Given the description of an element on the screen output the (x, y) to click on. 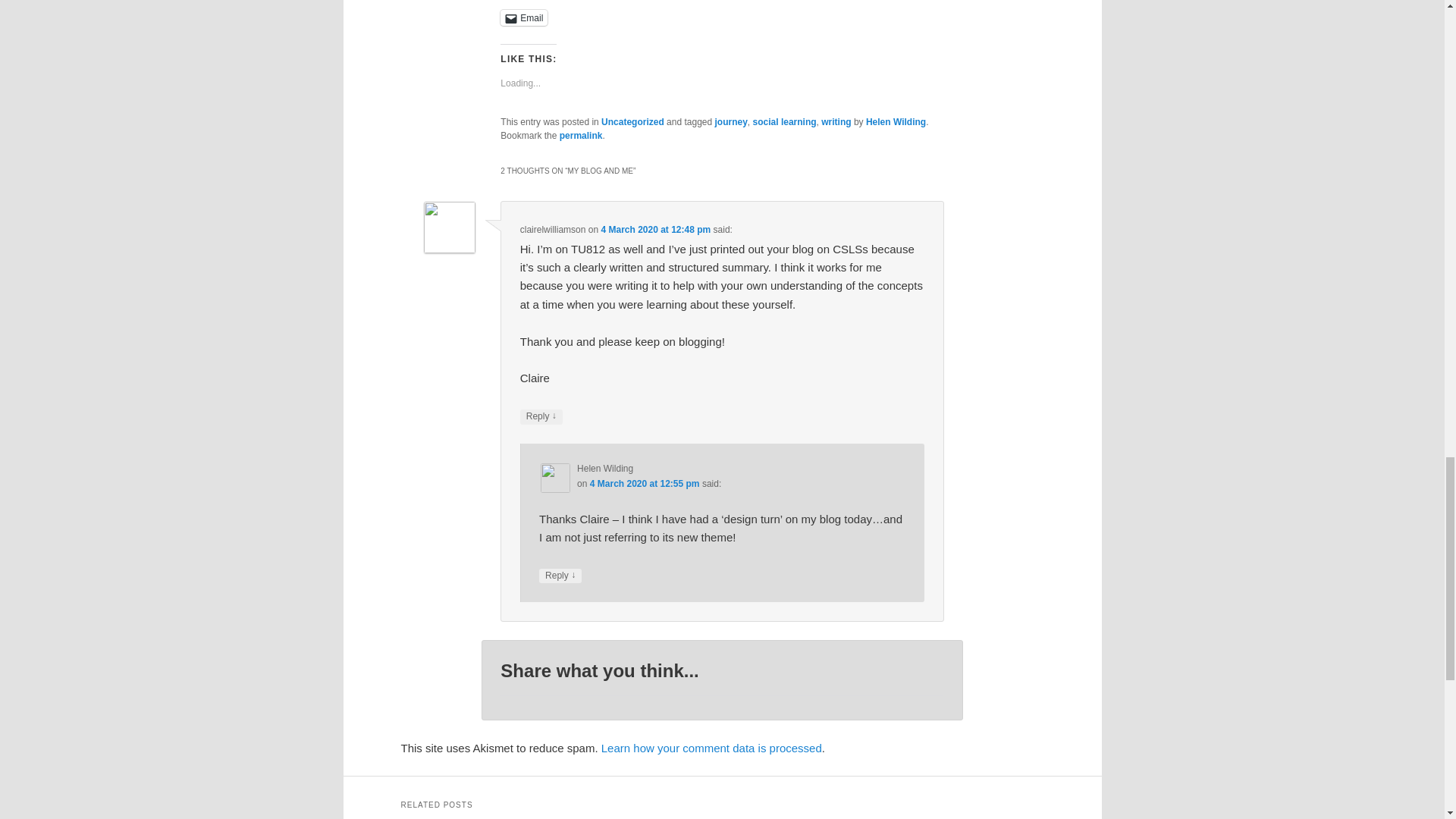
4 March 2020 at 12:55 pm (644, 483)
Click to email a link to a friend (523, 17)
Uncategorized (632, 122)
journey (417, 818)
permalink (580, 135)
Email (523, 17)
Learn how your comment data is processed (711, 748)
4 March 2020 at 12:48 pm (654, 229)
journey (731, 122)
writing (835, 122)
social learning (784, 122)
Helen Wilding (896, 122)
